Given the description of an element on the screen output the (x, y) to click on. 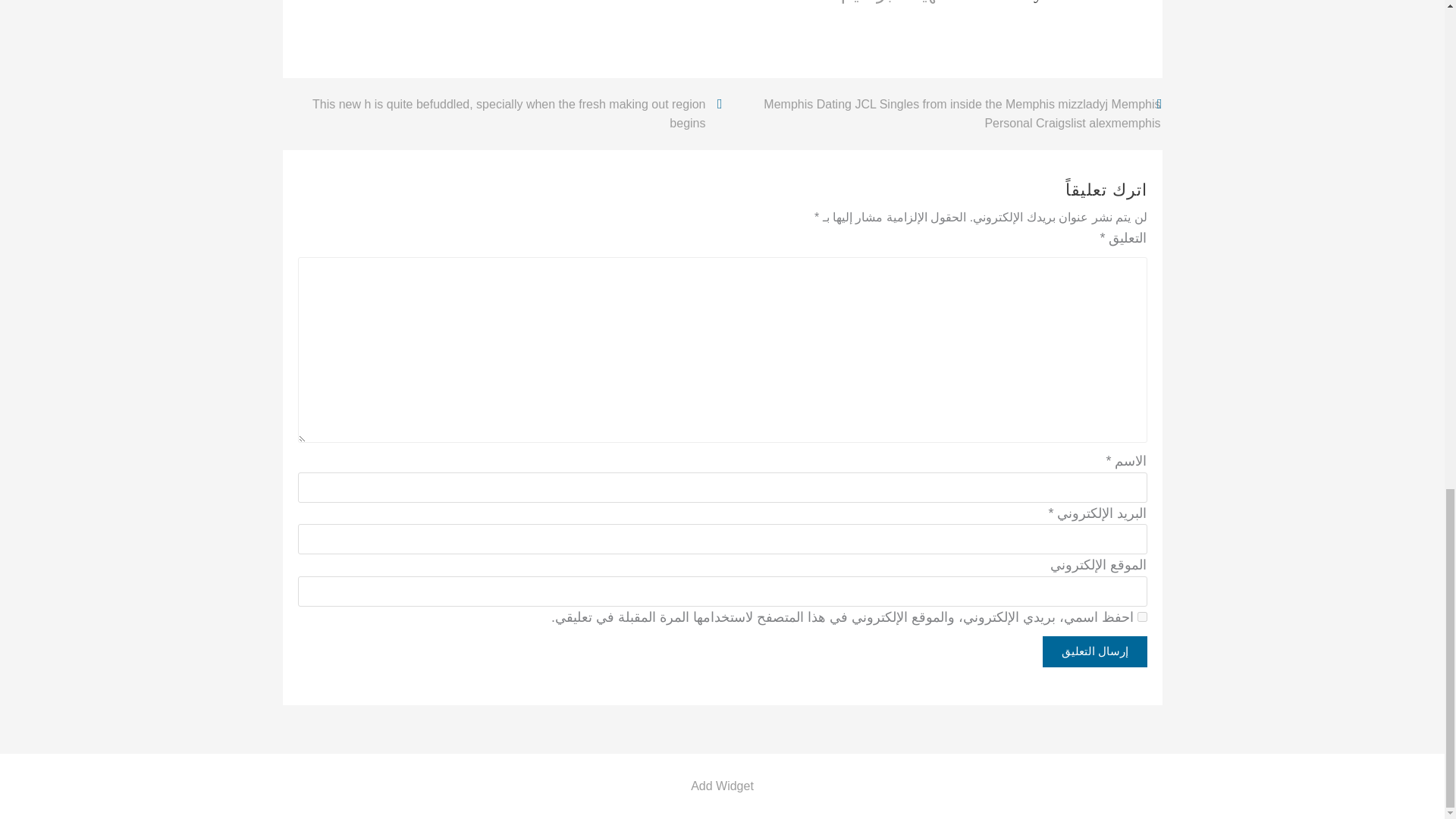
yes (1142, 616)
Add Widget (722, 786)
